Given the description of an element on the screen output the (x, y) to click on. 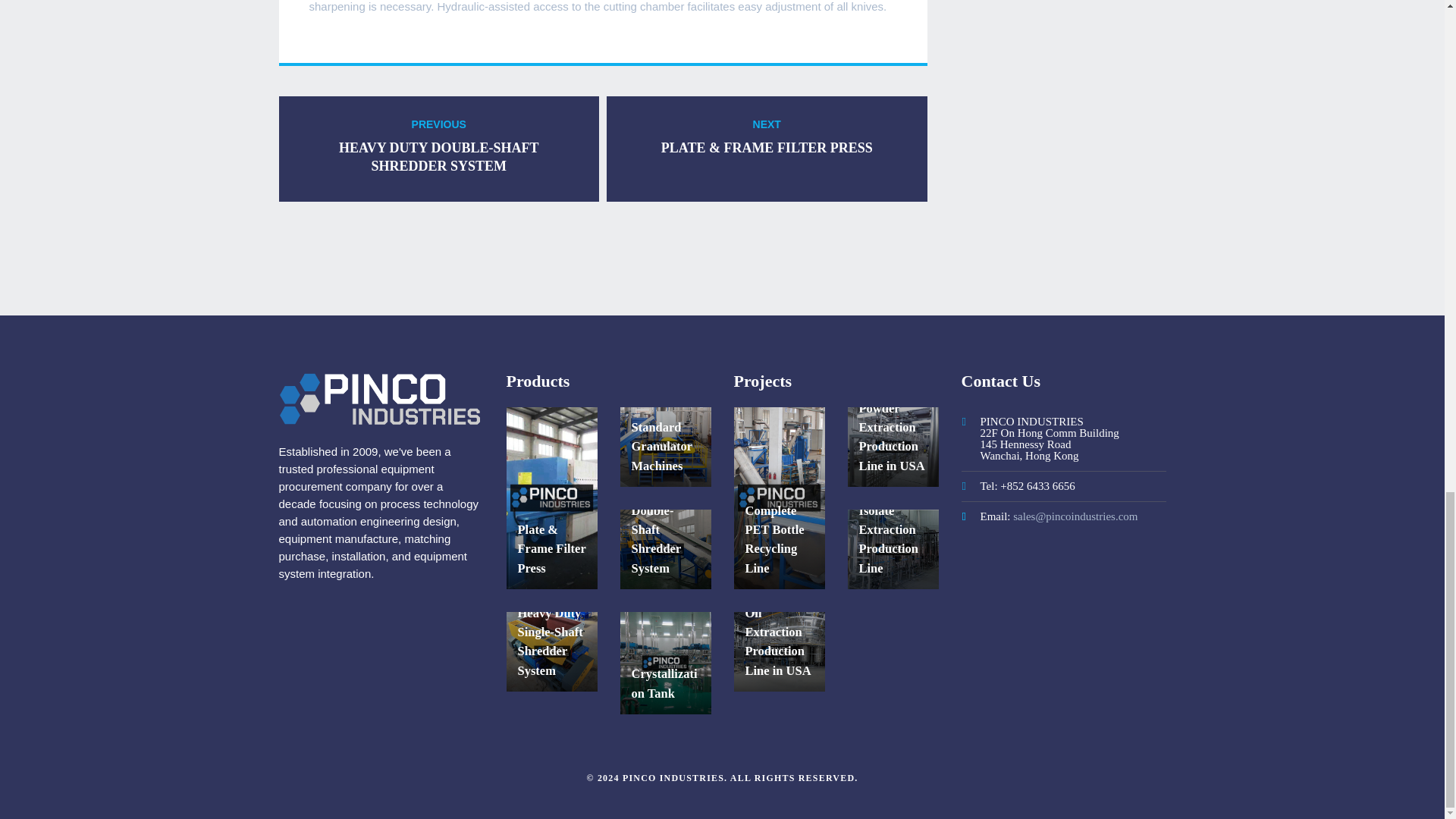
Standard Granulator Machines (439, 148)
